Given the description of an element on the screen output the (x, y) to click on. 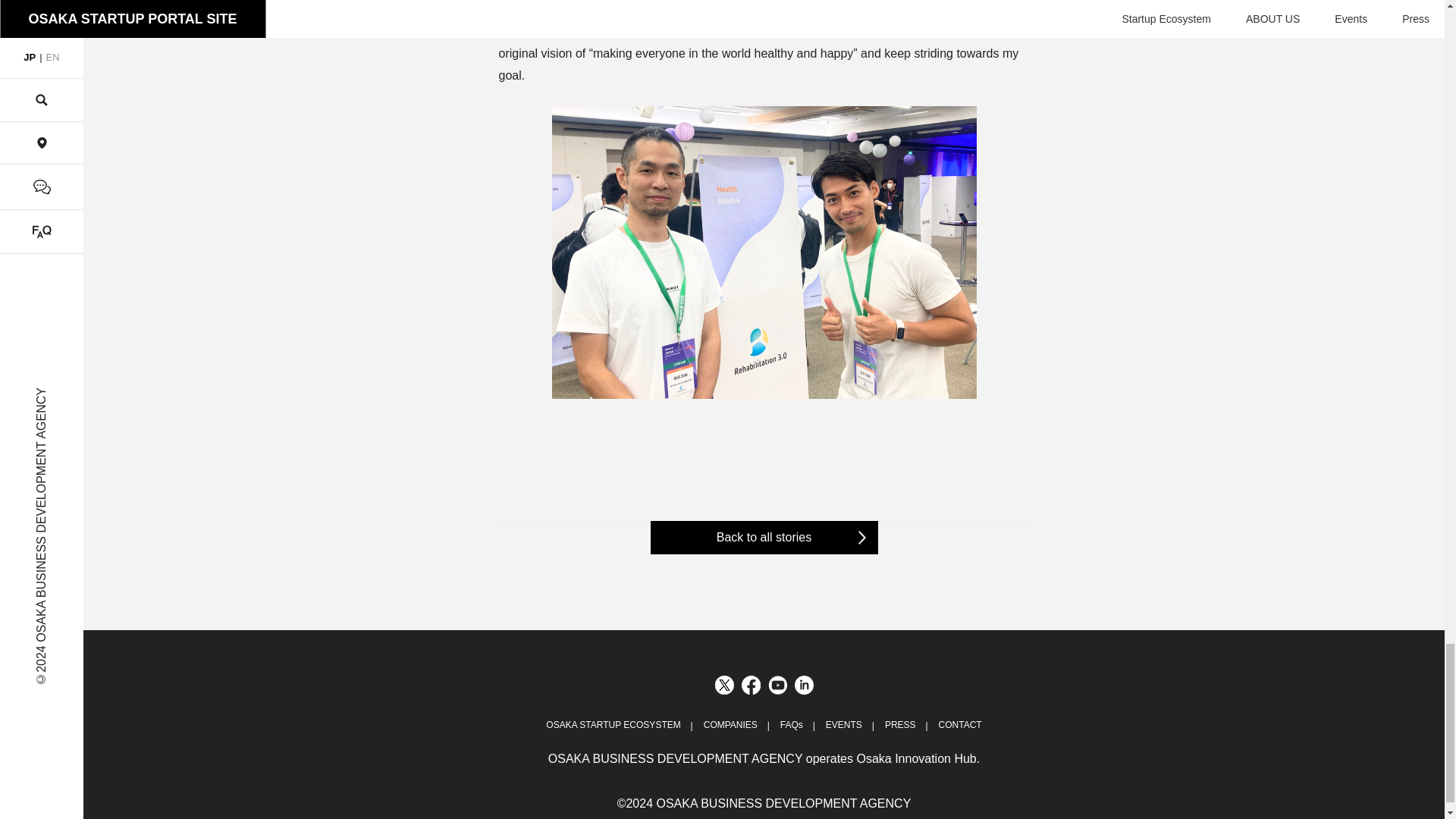
PRESS (900, 724)
FAQs (791, 724)
EVENTS (843, 724)
OSAKA STARTUP ECOSYSTEM (612, 724)
CONTACT (960, 724)
COMPANIES (730, 724)
Back to all stories (763, 537)
